Given the description of an element on the screen output the (x, y) to click on. 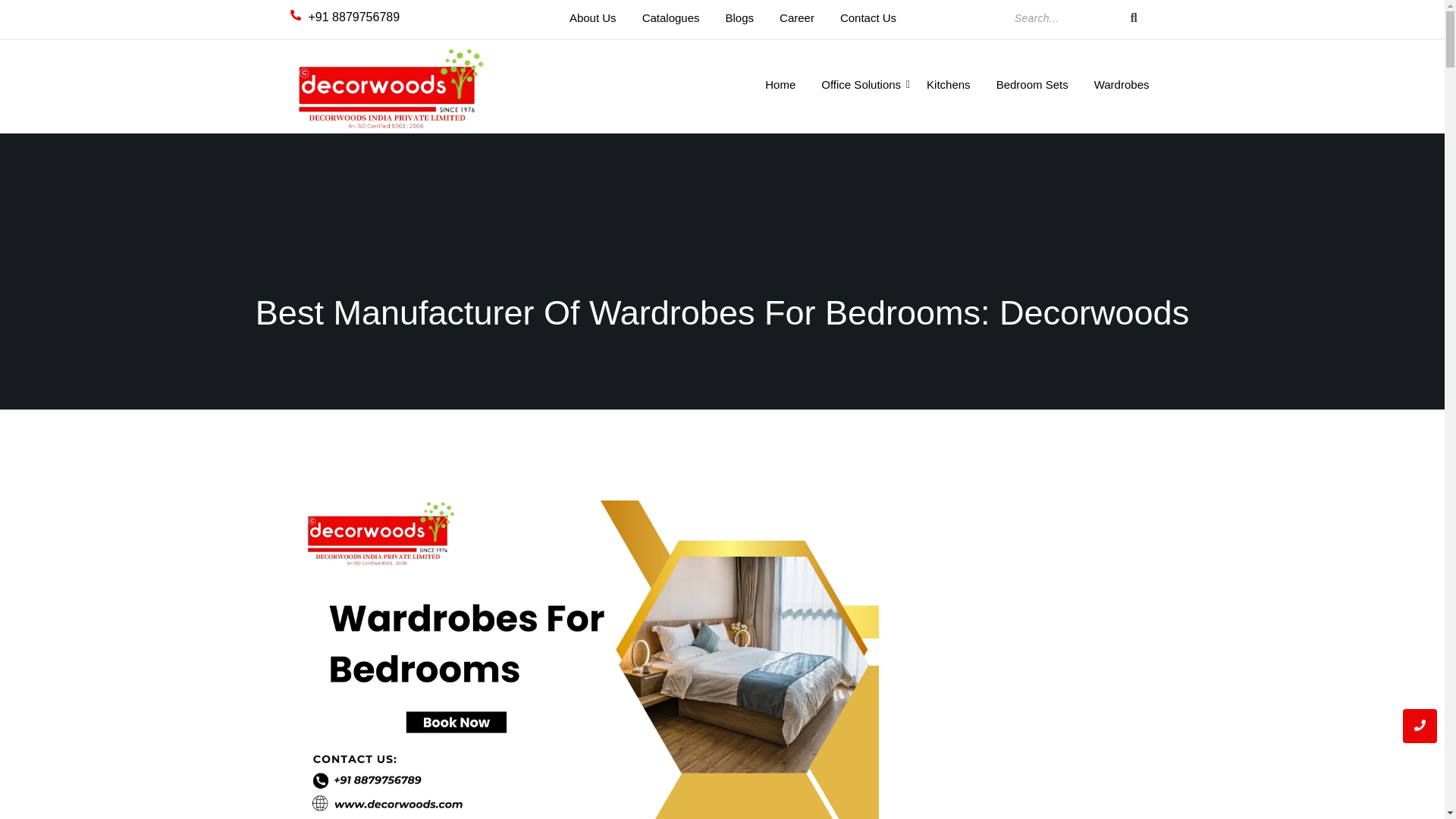
Contact Us (867, 18)
Blogs (740, 18)
Catalogues (670, 18)
Search (1063, 17)
Wardrobes (1121, 85)
Kitchens (948, 85)
Office Solutions (860, 85)
Home (780, 85)
Bedroom Sets (1032, 85)
About Us (592, 18)
